Given the description of an element on the screen output the (x, y) to click on. 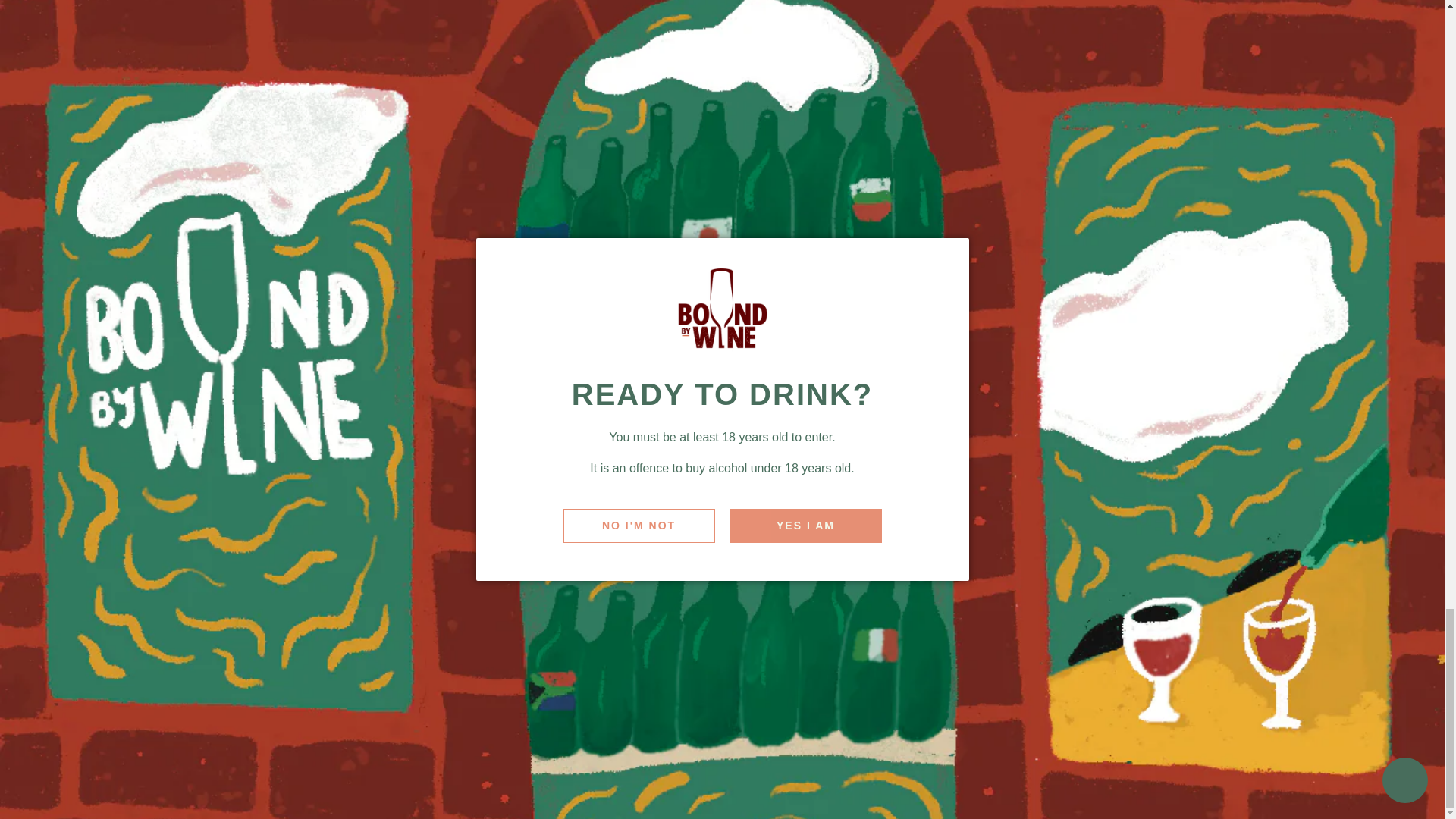
Apple Pay (848, 768)
American Express (803, 768)
Google Pay (894, 768)
